Given the description of an element on the screen output the (x, y) to click on. 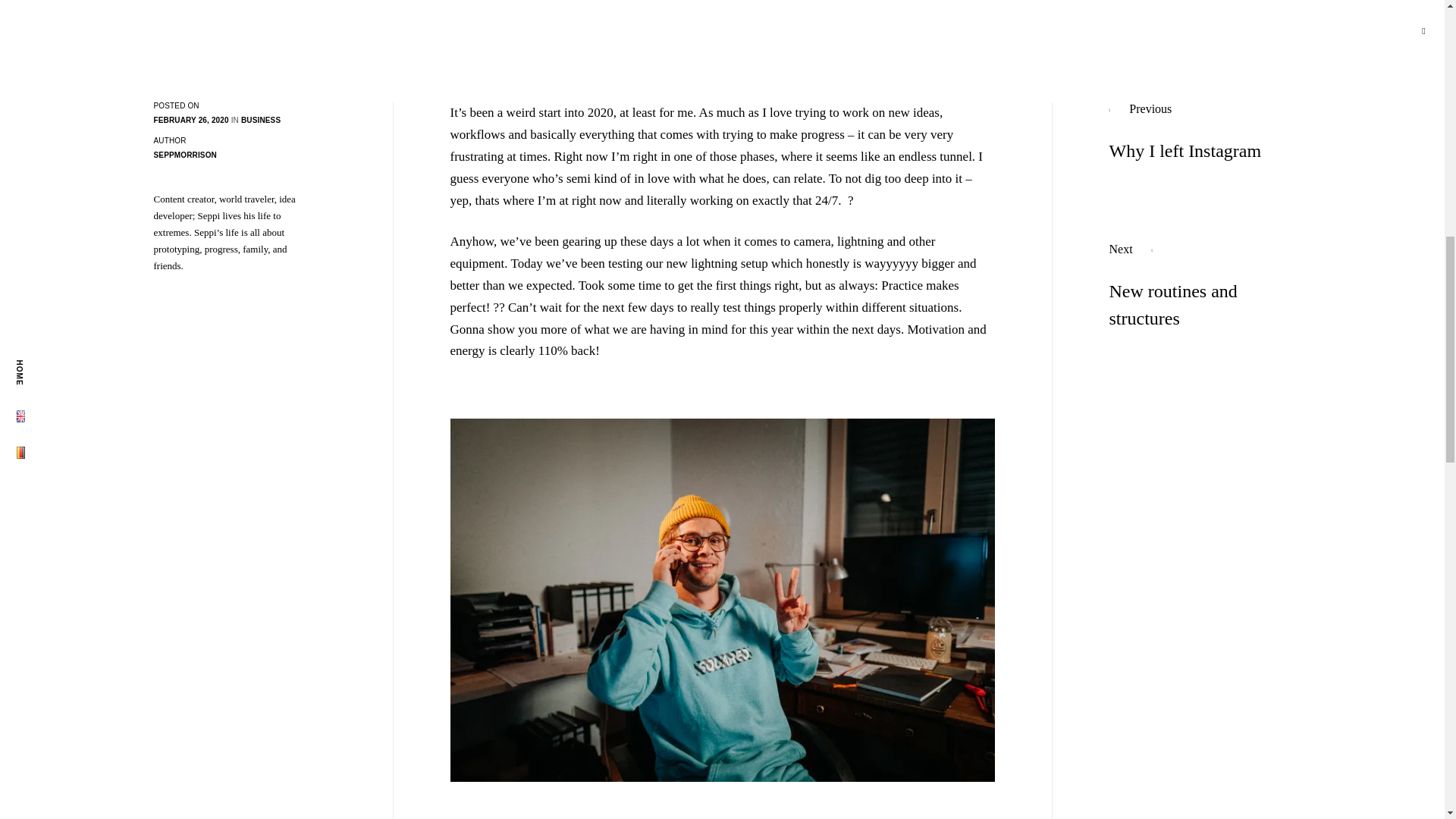
FEBRUARY 26, 2020 (190, 120)
SEPPMORRISON (183, 154)
BUSINESS (1199, 286)
